Given the description of an element on the screen output the (x, y) to click on. 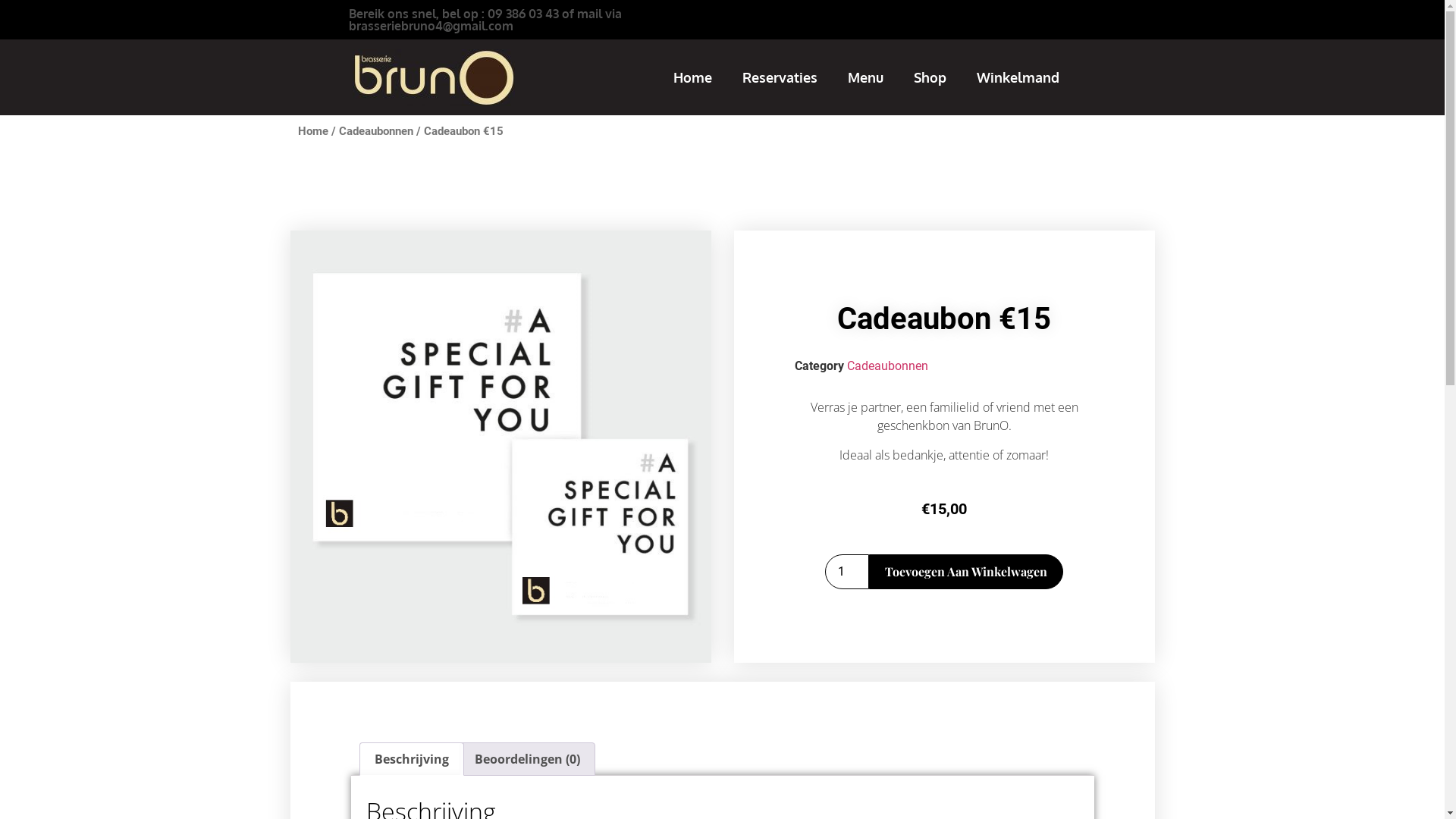
Toevoegen Aan Winkelwagen Element type: text (966, 571)
Beoordelingen (0) Element type: text (527, 759)
Menu Element type: text (865, 76)
Home Element type: text (692, 76)
Cadeaubonnen Element type: text (886, 365)
Winkelmand Element type: text (1017, 76)
Home Element type: text (312, 131)
Beschrijving Element type: text (410, 759)
Shop Element type: text (929, 76)
Reservaties Element type: text (779, 76)
Cadeaubonnen Element type: text (375, 131)
Logo-Bruno-Brasserie Element type: hover (433, 76)
